Given the description of an element on the screen output the (x, y) to click on. 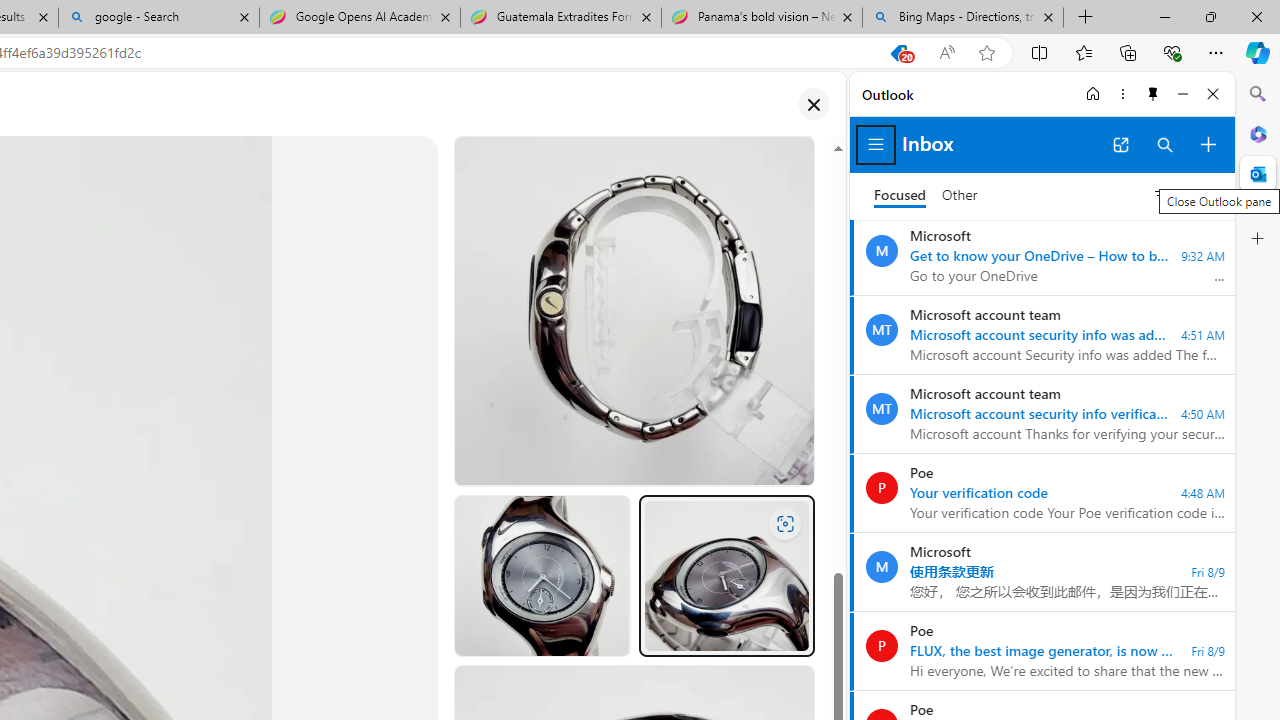
You have the best price! Shopping in Microsoft Edge, 20 (898, 53)
Google Opens AI Academy for Startups - Nearshore Americas (359, 17)
Close image gallery dialog (813, 103)
